Given the description of an element on the screen output the (x, y) to click on. 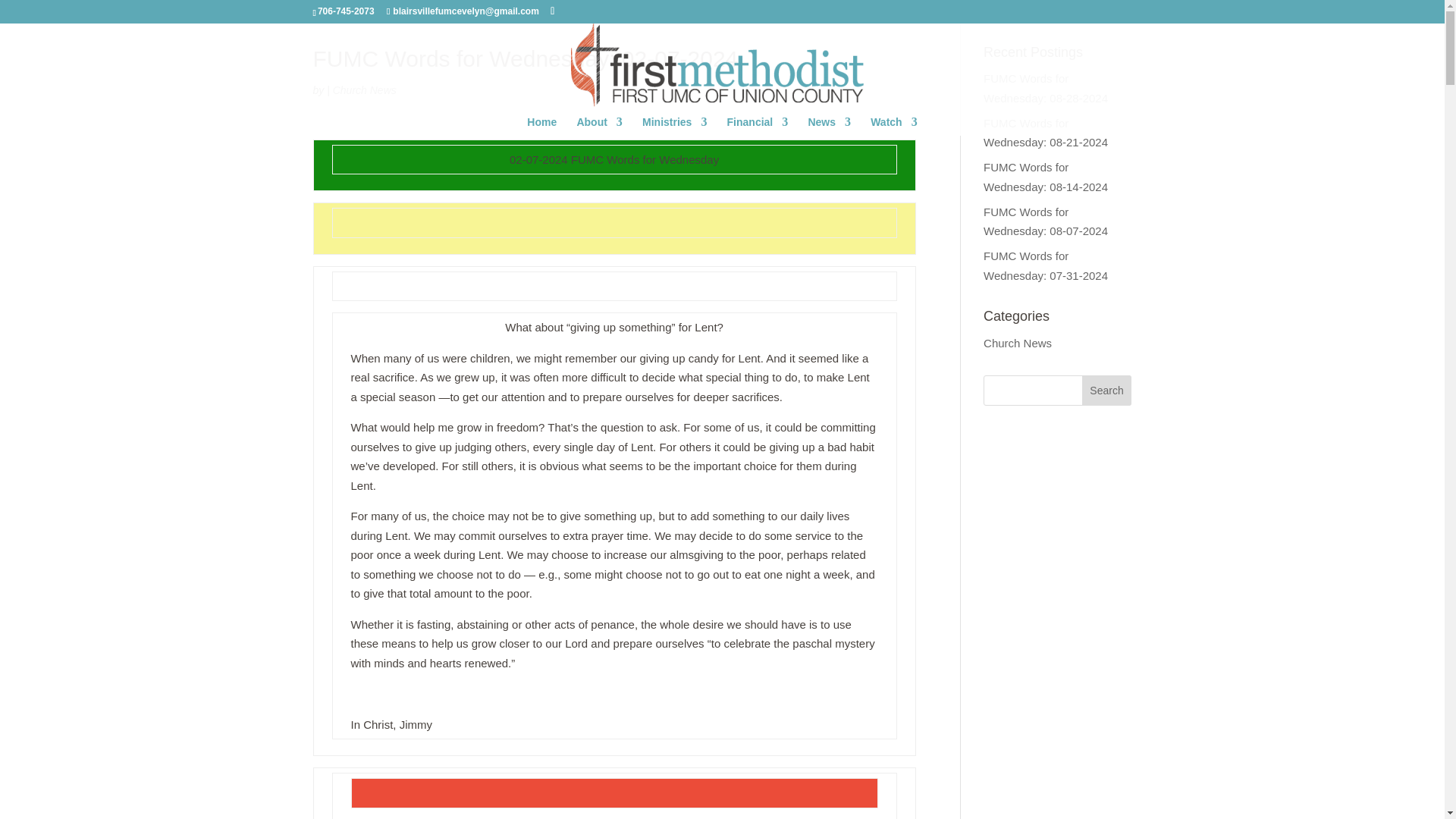
Financial (757, 126)
Ministries (674, 126)
News (829, 126)
Home (541, 126)
Church News (364, 90)
Watch (893, 126)
About (598, 126)
Search (1106, 390)
